Given the description of an element on the screen output the (x, y) to click on. 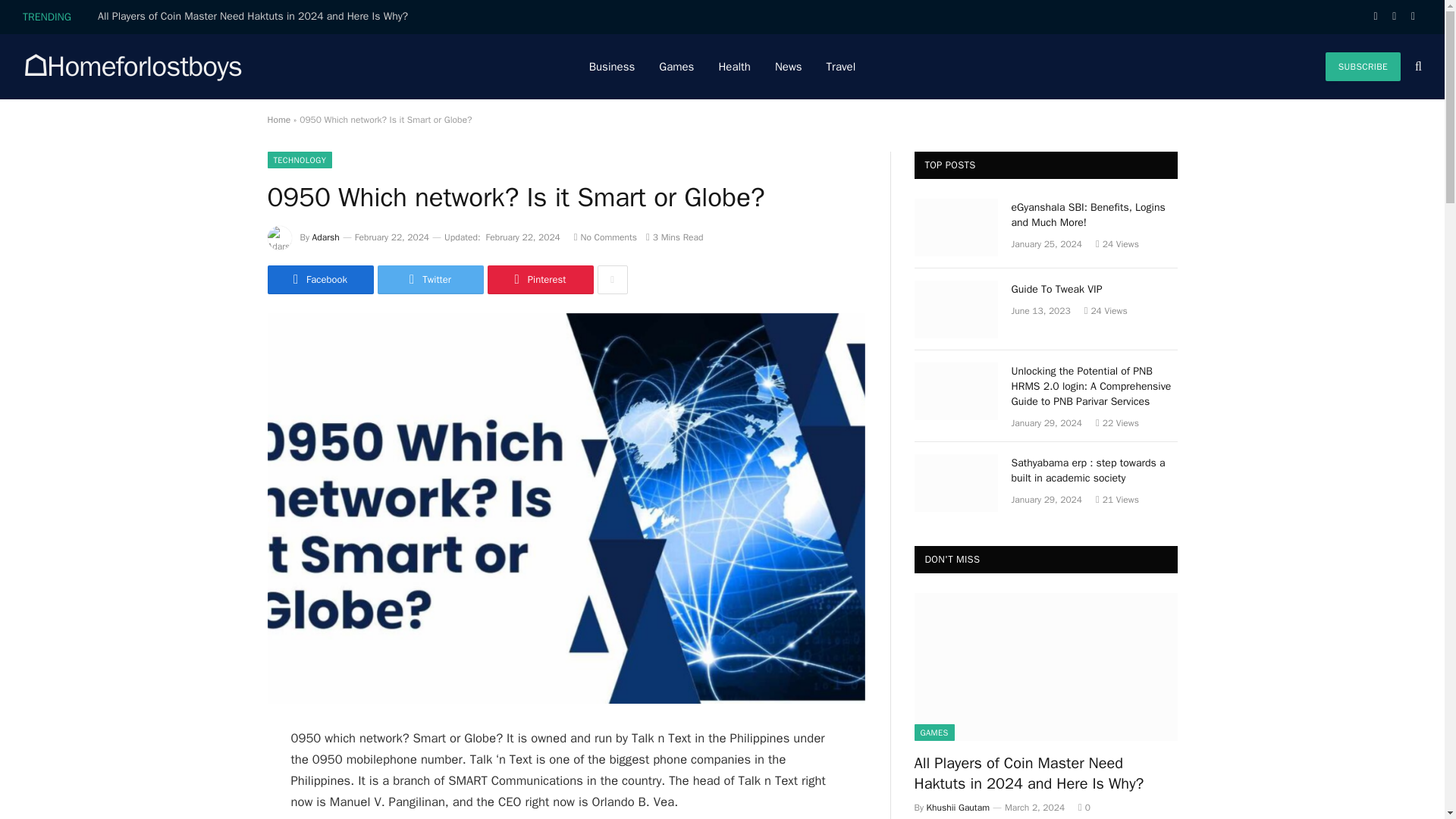
Business (611, 66)
Posts by Adarsh (326, 236)
Adarsh (326, 236)
SUBSCRIBE (1362, 66)
Share on Pinterest (539, 279)
Games (676, 66)
No Comments (605, 236)
TECHNOLOGY (298, 159)
homeforlostboys (132, 66)
Share on Facebook (319, 279)
